Given the description of an element on the screen output the (x, y) to click on. 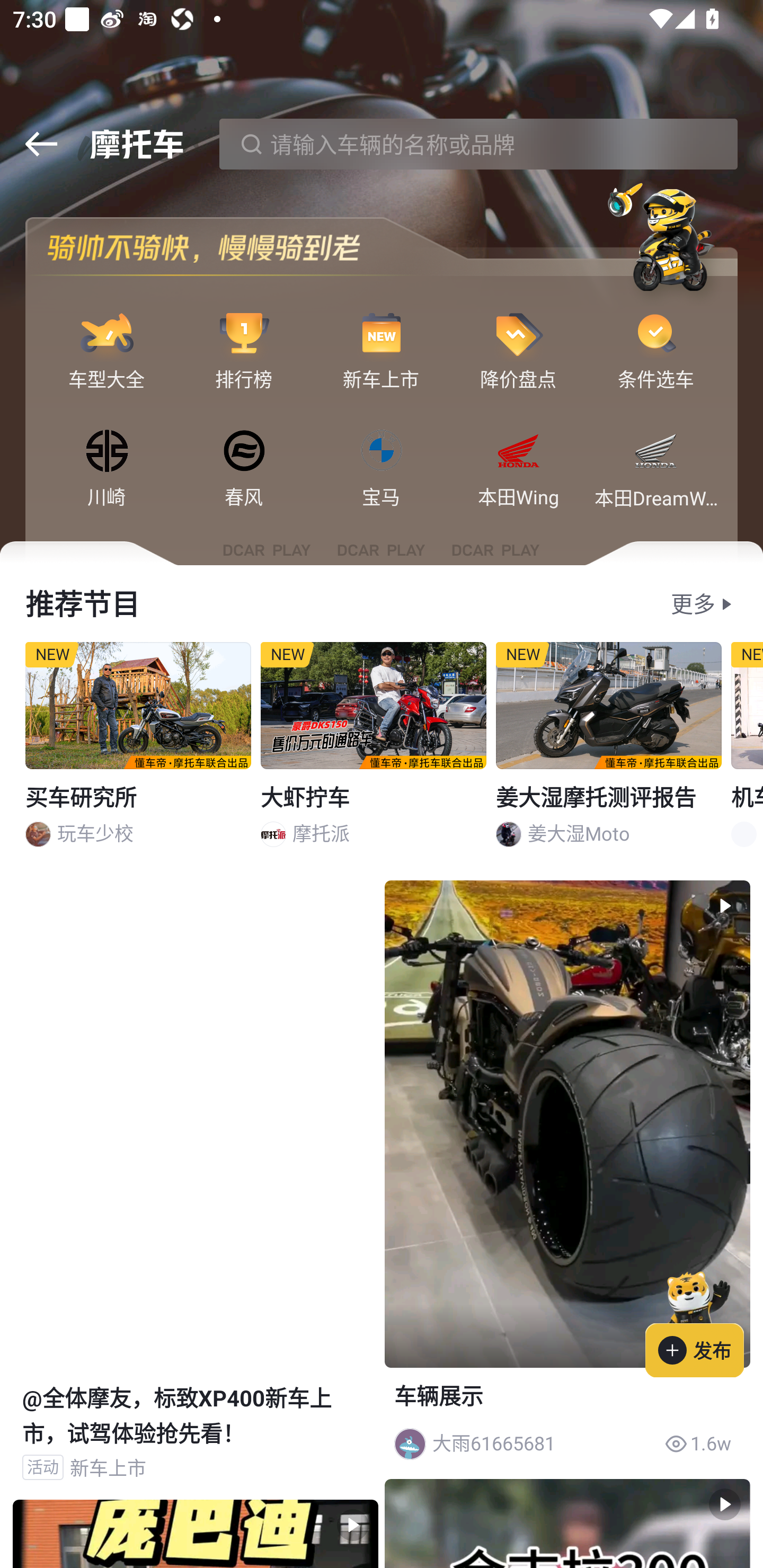
 请输入车辆的名称或品牌 (478, 144)
 (41, 144)
车型大全 (106, 334)
排行榜 (243, 334)
新车上市 (381, 334)
降价盘点 (518, 334)
条件选车 (655, 334)
川崎 (106, 452)
春风 (243, 452)
宝马 (381, 452)
本田Wing (518, 452)
本田DreamWing (655, 452)
更多 (692, 603)
NEW 买车研究所 玩车少校 (138, 750)
NEW 大虾拧车 摩托派 (373, 750)
NEW 姜大湿摩托测评报告 姜大湿Moto (608, 750)
@全体摩友，标致XP400新车上市，试驾体验抢先看！ 活动 新车上市 (195, 1189)
  车辆展示 大雨61665681 < >1.6w (567, 1175)
发布 (704, 1320)
